Given the description of an element on the screen output the (x, y) to click on. 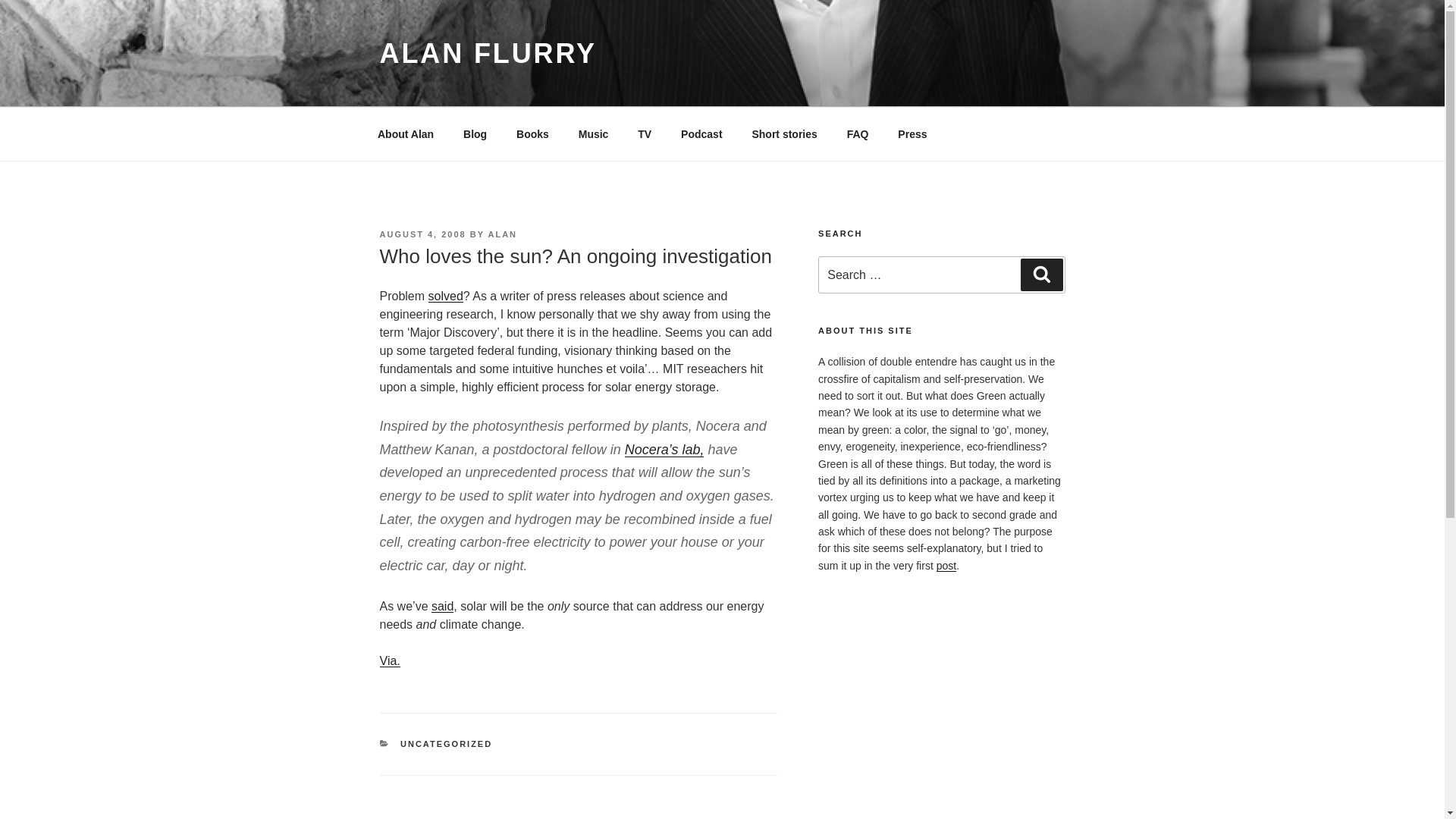
Press (912, 133)
Search (1041, 274)
Short stories (783, 133)
ALAN (502, 234)
FAQ (857, 133)
said (441, 605)
solved (445, 295)
AUGUST 4, 2008 (421, 234)
Blog (474, 133)
ALAN FLURRY (486, 52)
TV (644, 133)
Podcast (701, 133)
Books (532, 133)
post (946, 565)
UNCATEGORIZED (446, 743)
